Given the description of an element on the screen output the (x, y) to click on. 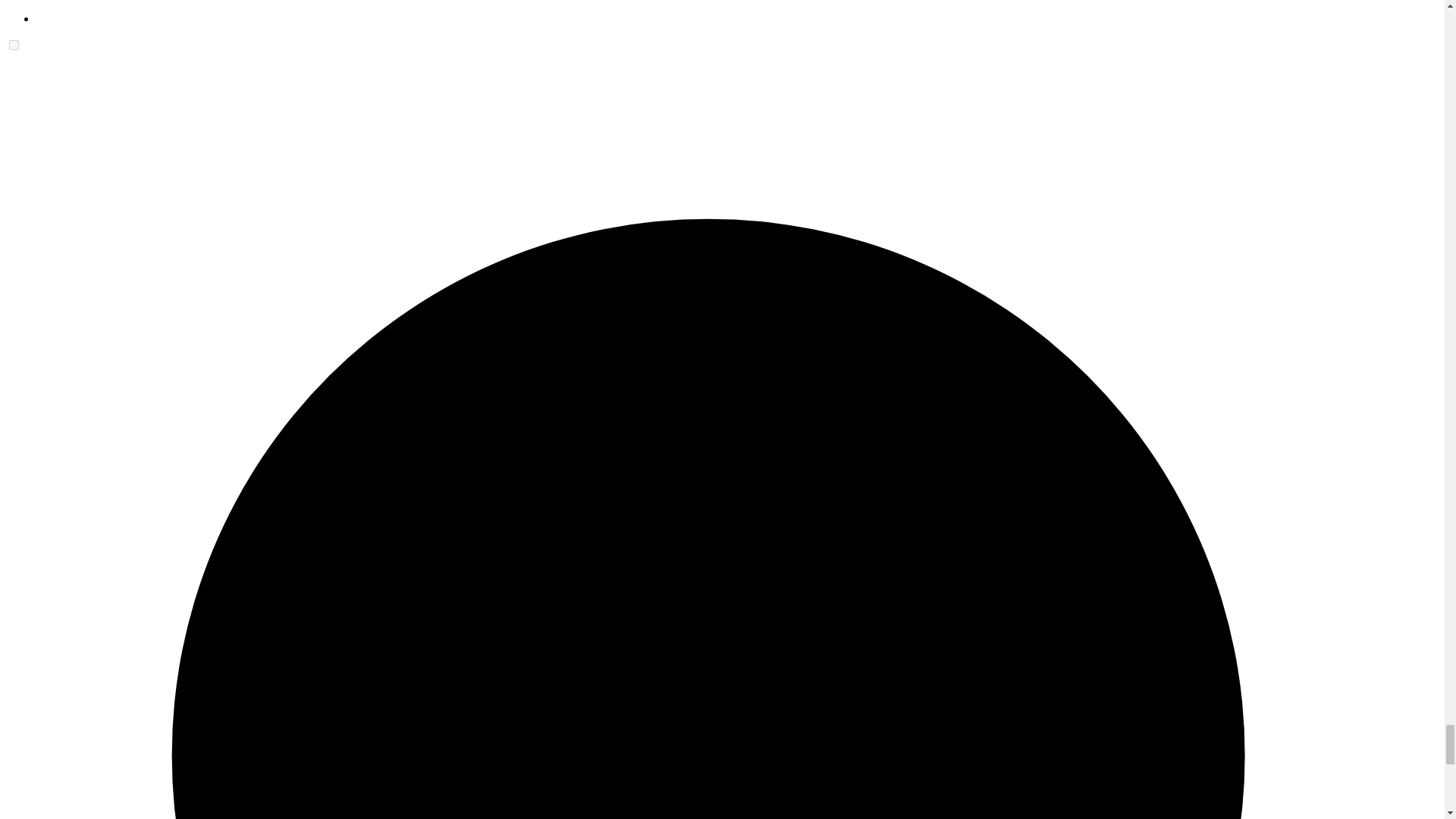
on (13, 44)
